Given the description of an element on the screen output the (x, y) to click on. 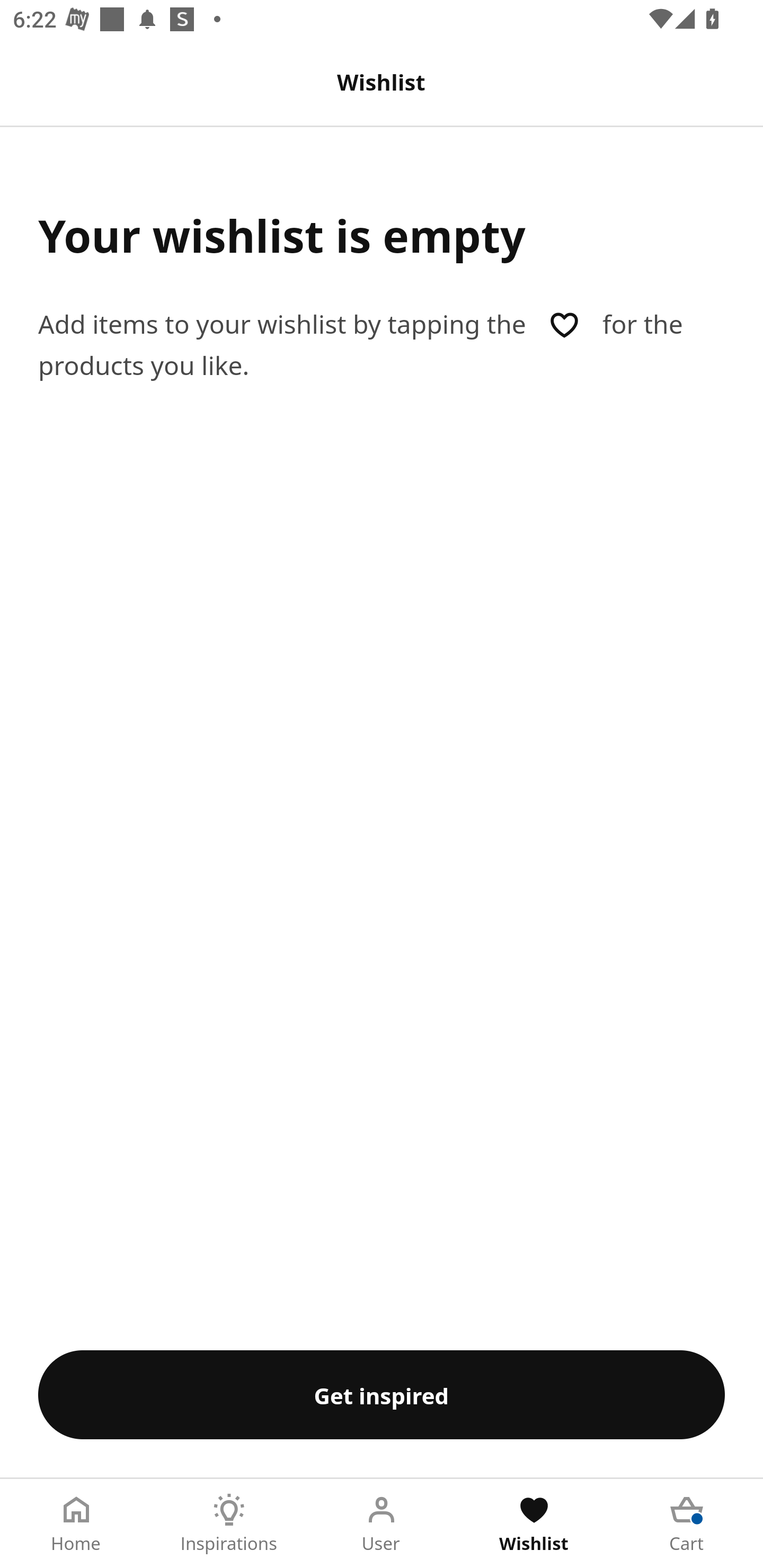
Get inspired (381, 1394)
Home
Tab 1 of 5 (76, 1522)
Inspirations
Tab 2 of 5 (228, 1522)
User
Tab 3 of 5 (381, 1522)
Wishlist
Tab 4 of 5 (533, 1522)
Cart
Tab 5 of 5 (686, 1522)
